Given the description of an element on the screen output the (x, y) to click on. 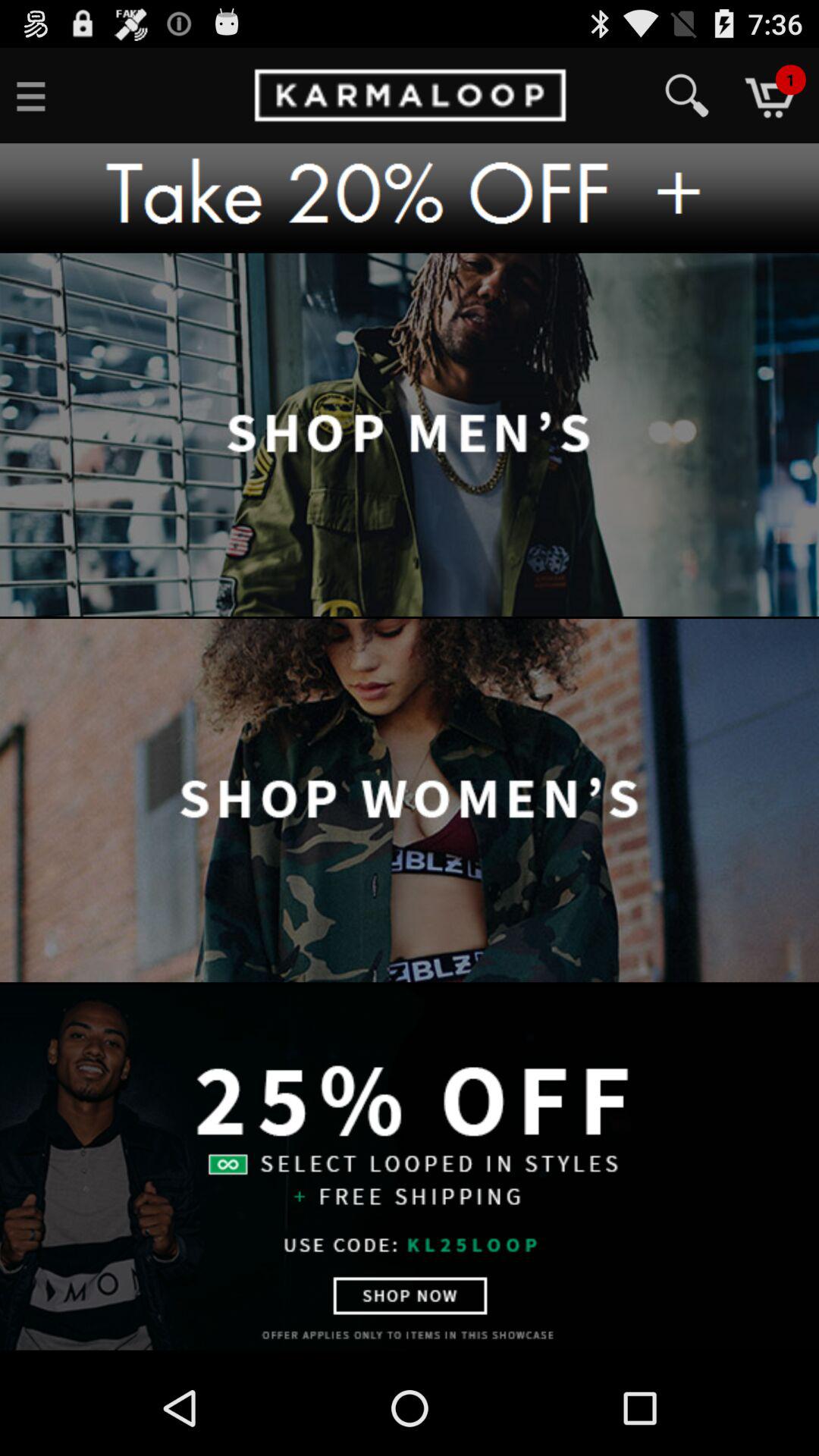
click to add coupon (409, 198)
